Given the description of an element on the screen output the (x, y) to click on. 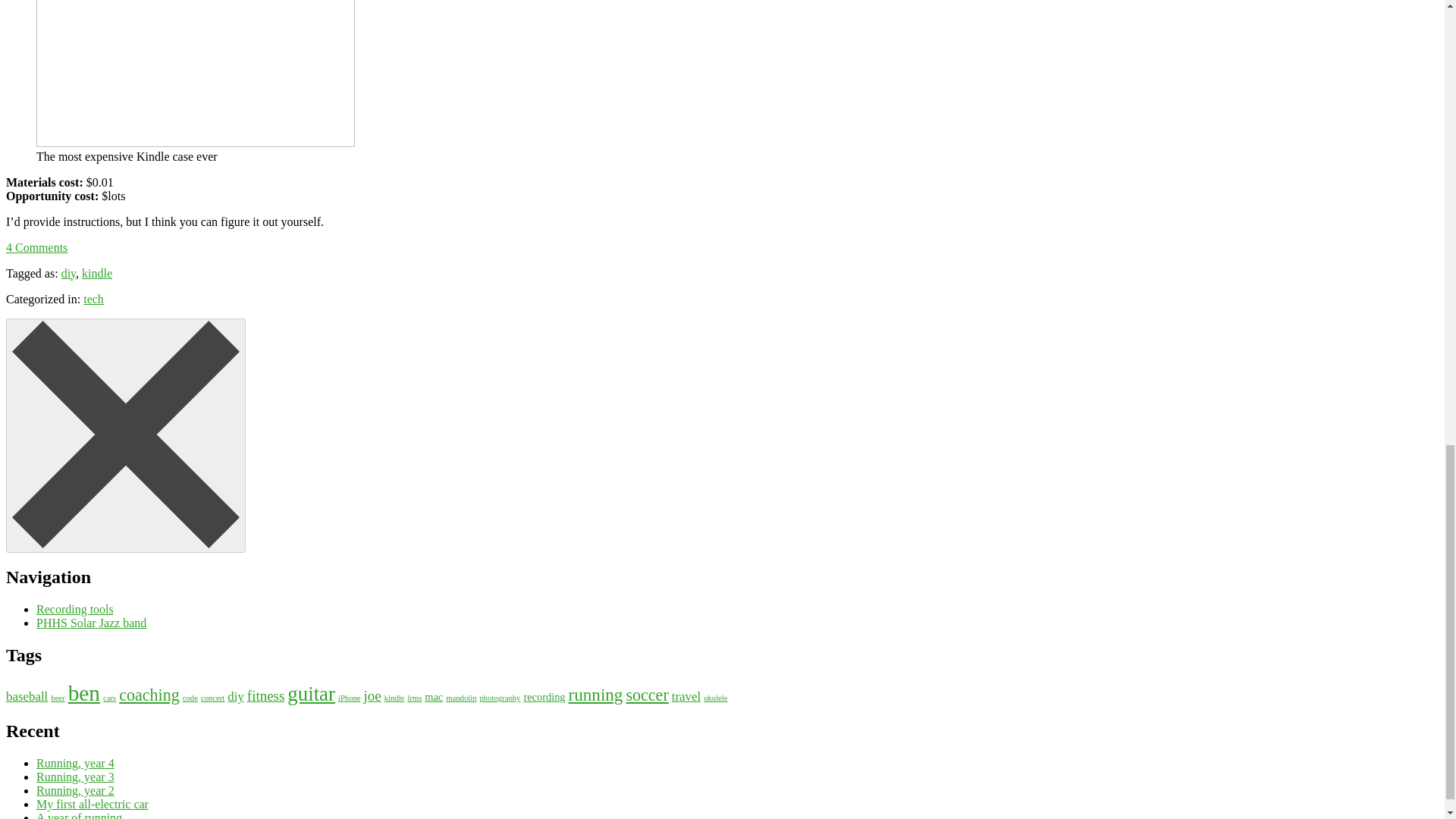
Recording tools (74, 608)
diy (68, 273)
baseball (26, 696)
code (190, 697)
Hide sidebar (125, 435)
tech (92, 298)
4 Comments (35, 246)
beer (57, 697)
kindle (96, 273)
cars (109, 697)
